Given the description of an element on the screen output the (x, y) to click on. 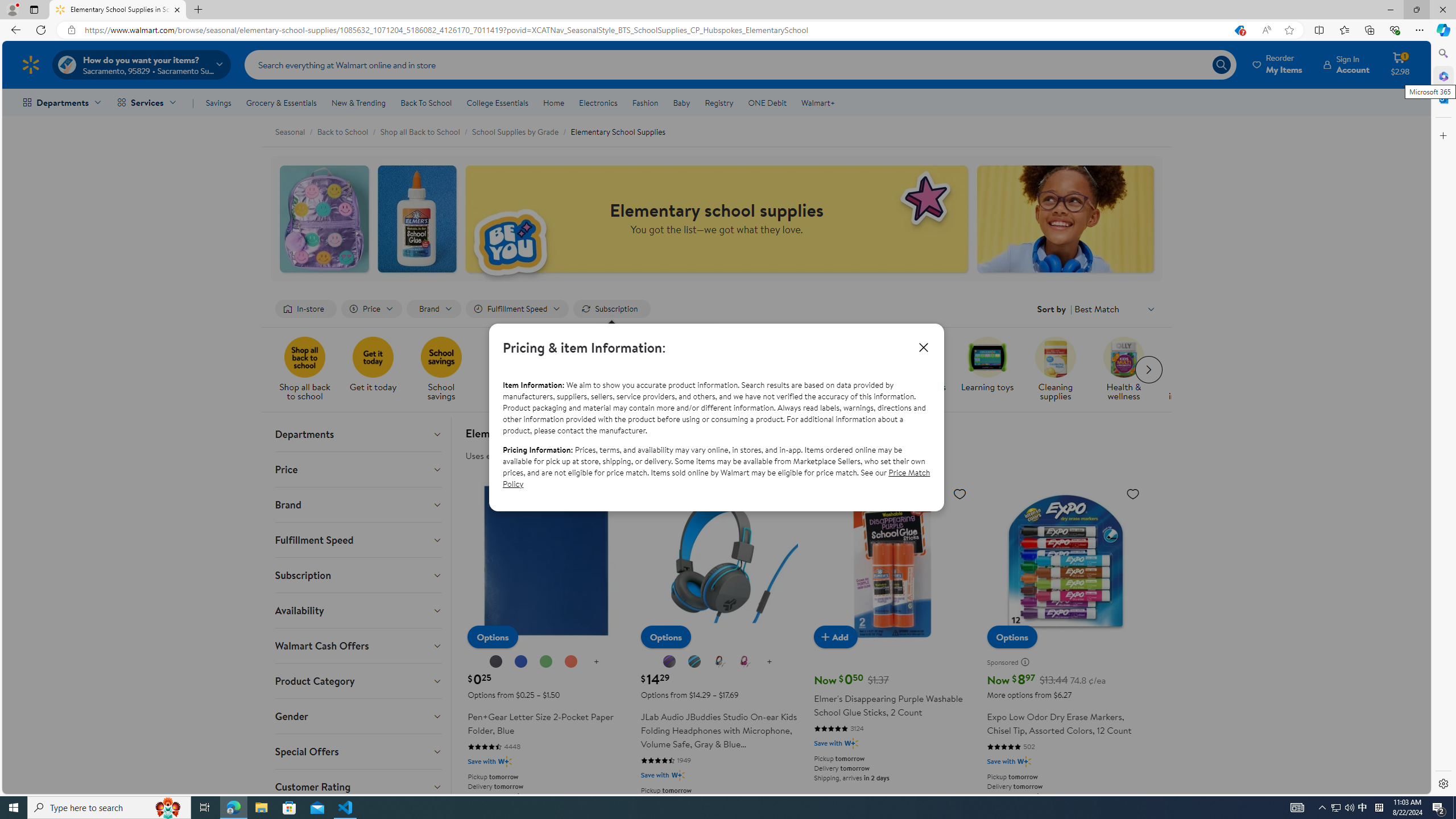
This site has coupons! Shopping in Microsoft Edge, 7 (1239, 29)
Price Match Policy (716, 477)
